Given the description of an element on the screen output the (x, y) to click on. 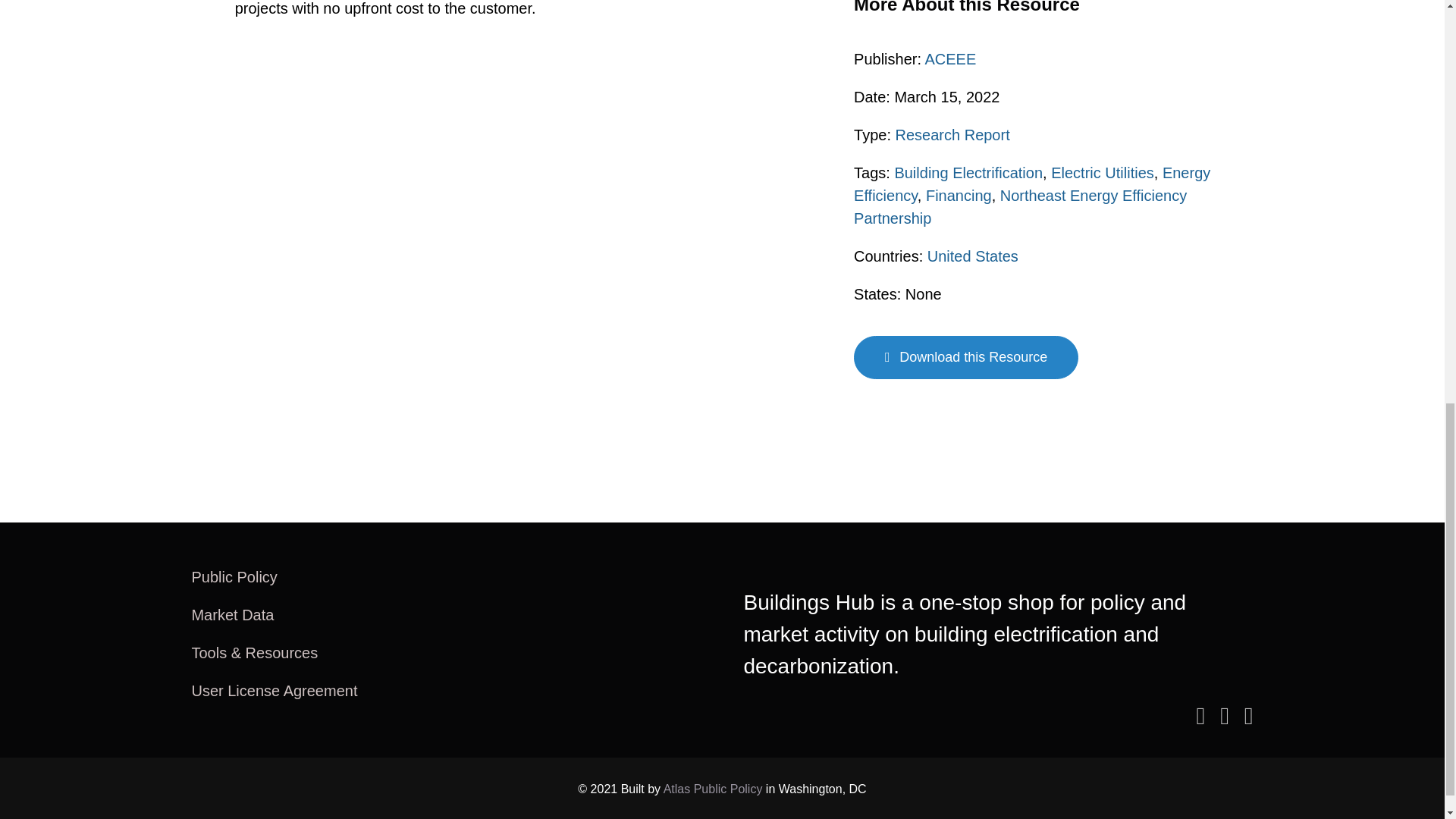
Northeast Energy Efficiency Partnership (1019, 206)
Research Report (952, 134)
Research Report (952, 134)
Energy Efficiency (1031, 183)
Building Electrification (967, 171)
Electric Utilities (1102, 171)
ACEEE (949, 57)
Building Electrification (967, 171)
Financing (958, 194)
ACEEE (949, 57)
